Given the description of an element on the screen output the (x, y) to click on. 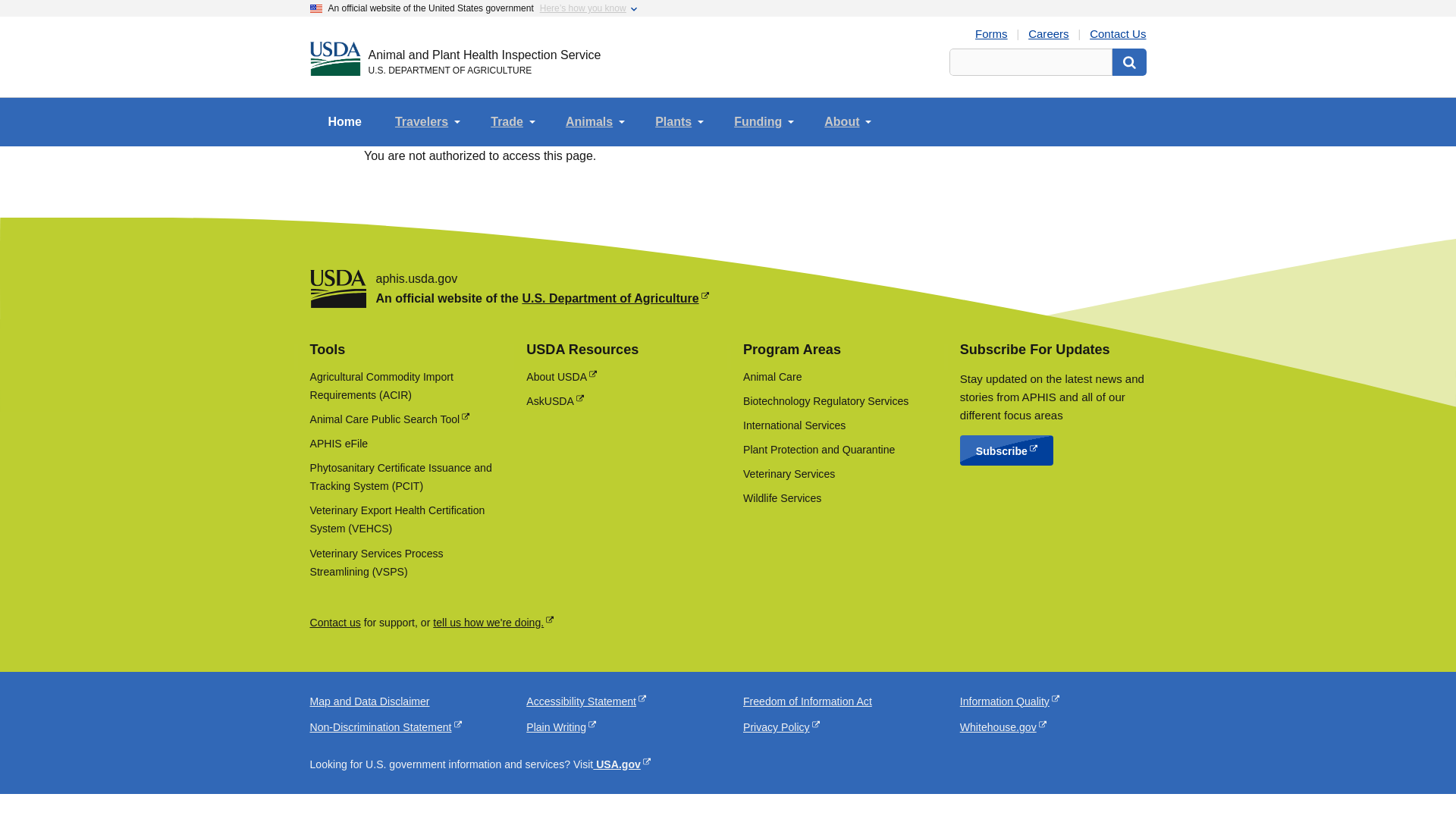
Animal and Plant Health Inspection Service (484, 54)
Animals (595, 121)
U.S. Department of Agriculture (614, 297)
Home (343, 121)
Animal Care (772, 377)
Skip to main content (727, 6)
Biotechnology Regulatory Services (825, 400)
Veterinary Services (788, 473)
Travelers (428, 121)
Plants (679, 121)
